Given the description of an element on the screen output the (x, y) to click on. 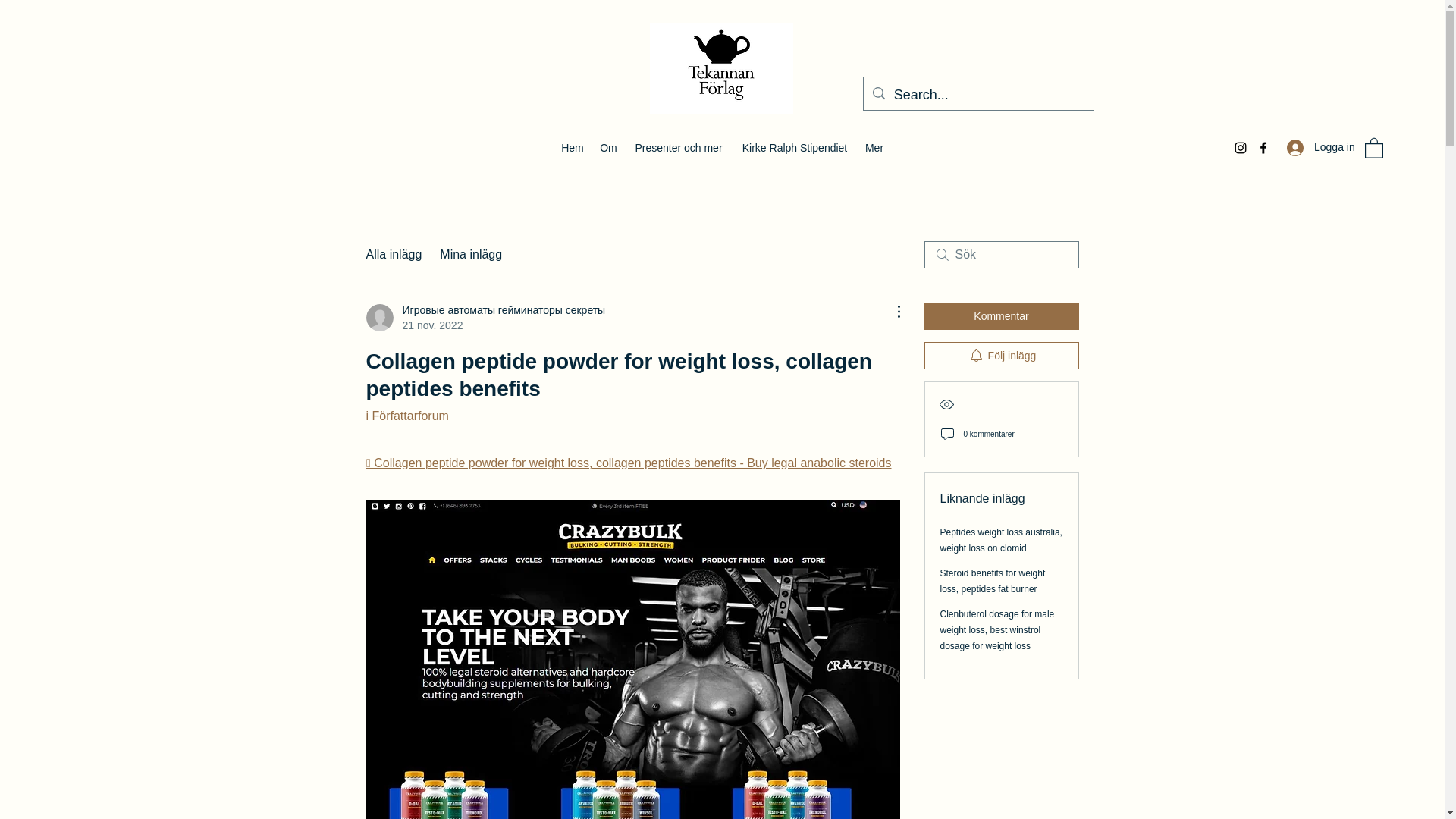
Presenter och mer (678, 147)
Logga in (1317, 147)
Om (607, 147)
Kirke Ralph Stipendiet (794, 147)
Steroid benefits for weight loss, peptides fat burner (992, 581)
Kommentar (1000, 316)
Peptides weight loss australia, weight loss on clomid (1001, 540)
Hem (572, 147)
